Given the description of an element on the screen output the (x, y) to click on. 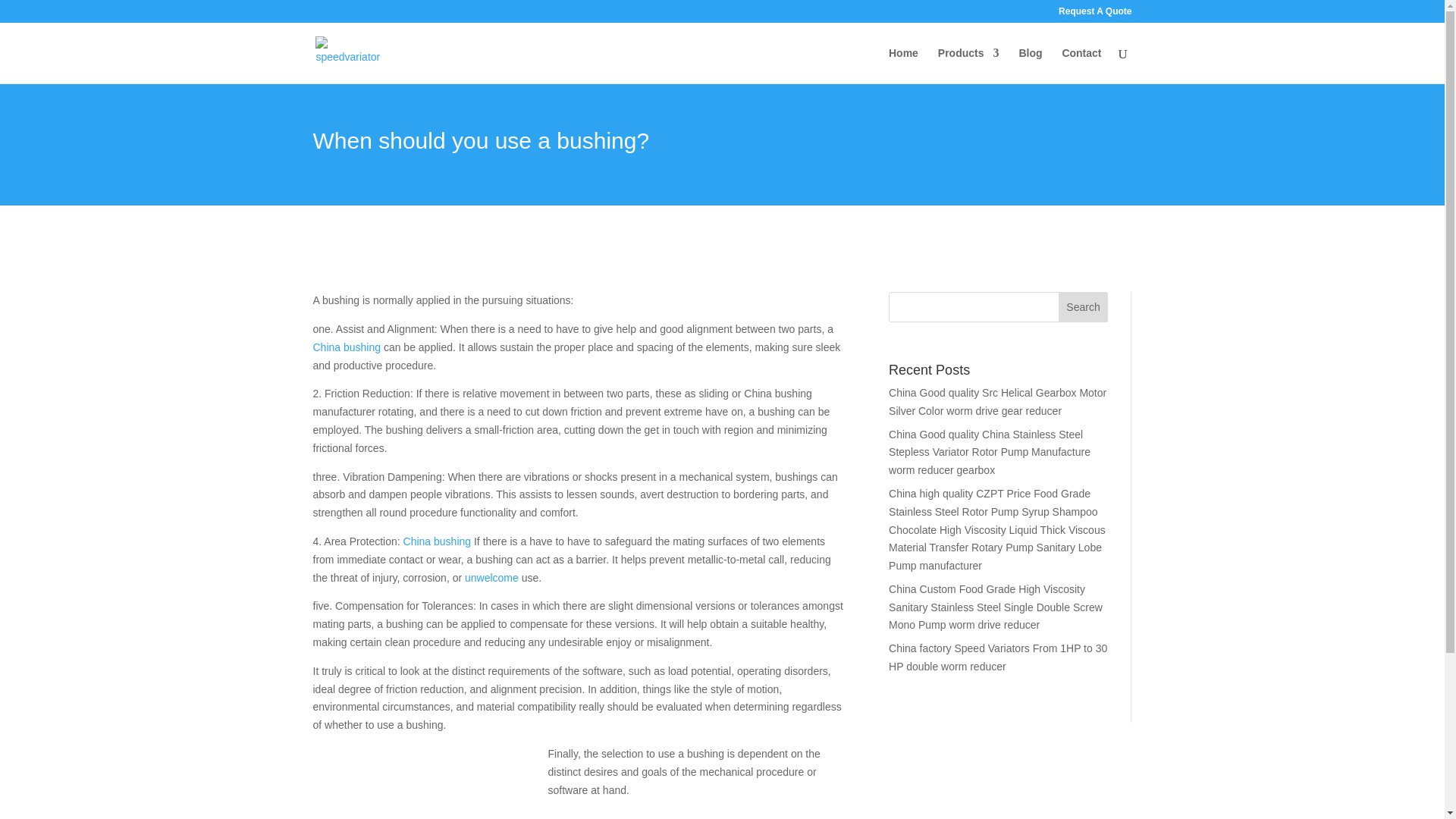
Search (1083, 306)
China bushing (346, 346)
Contact (1080, 65)
China bushing (437, 541)
Products (967, 65)
Request A Quote (1094, 14)
Search (1083, 306)
unwelcome (491, 577)
